Given the description of an element on the screen output the (x, y) to click on. 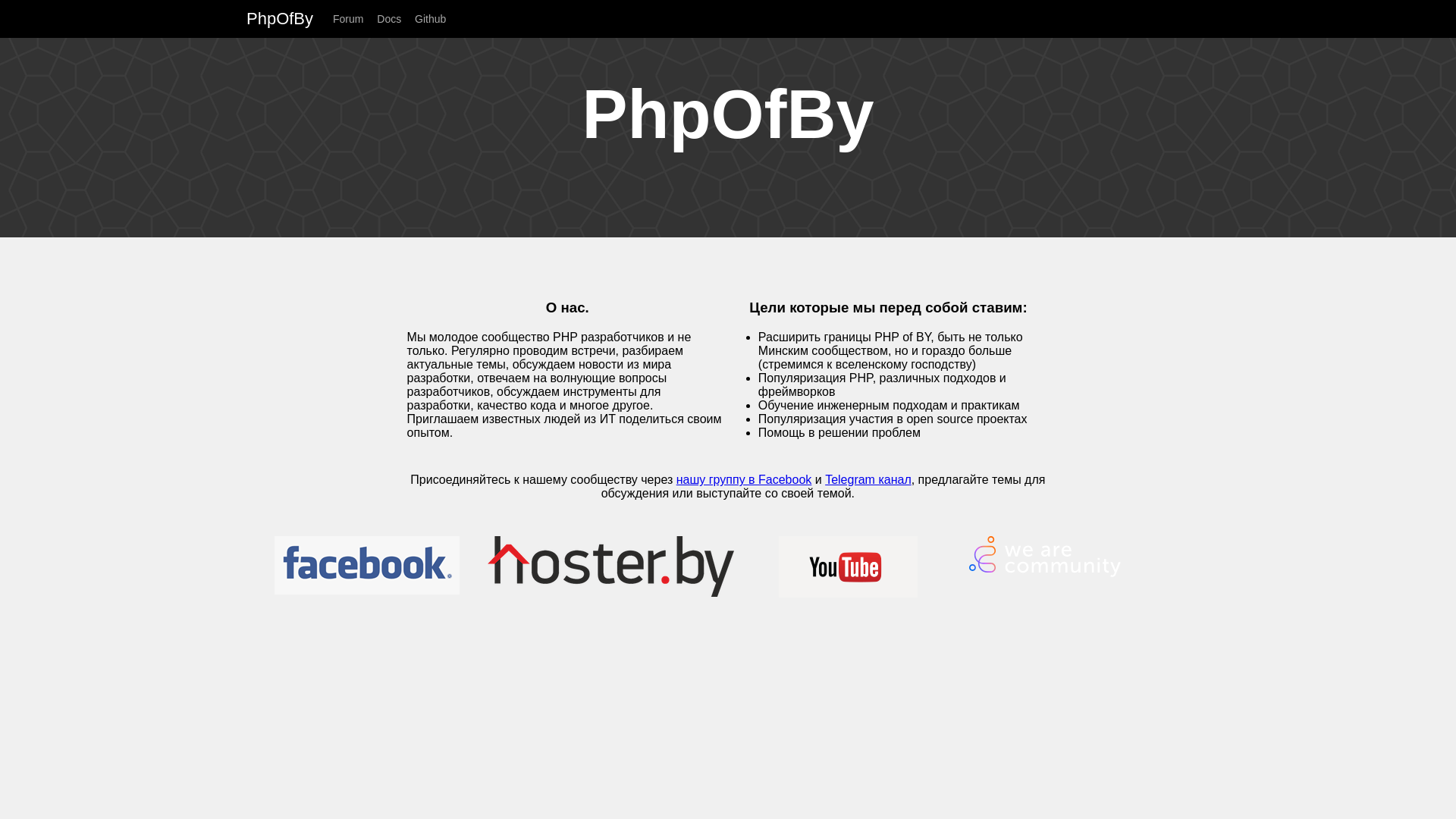
Forum Element type: text (352, 18)
Docs Element type: text (393, 18)
Github Element type: text (435, 18)
PhpOfBy Element type: text (287, 18)
